Given the description of an element on the screen output the (x, y) to click on. 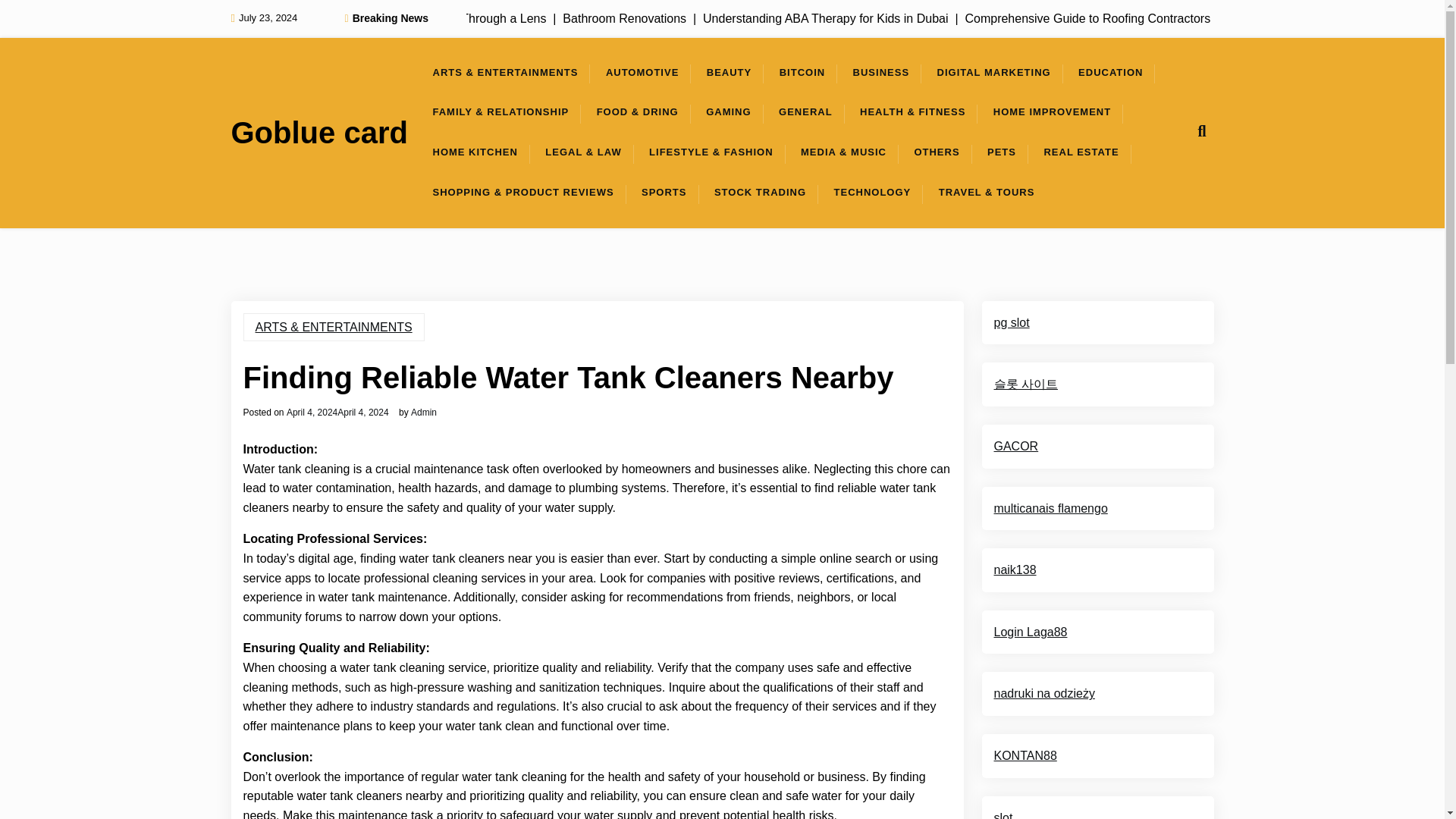
AUTOMOTIVE (642, 73)
BITCOIN (802, 73)
EDUCATION (1109, 73)
BUSINESS (881, 73)
BEAUTY (728, 73)
DIGITAL MARKETING (993, 73)
GENERAL (805, 112)
GAMING (728, 112)
Goblue card (318, 132)
